Given the description of an element on the screen output the (x, y) to click on. 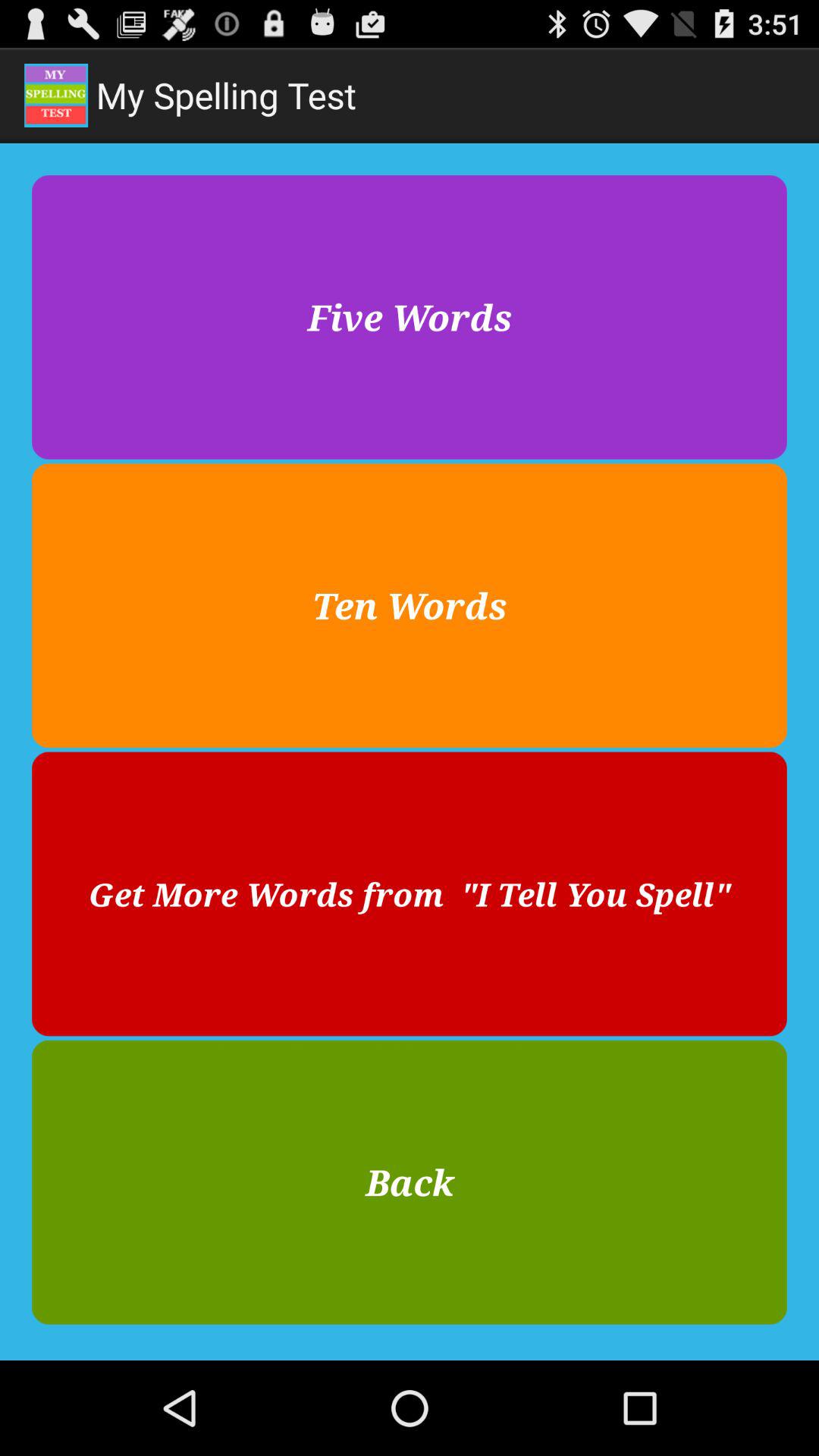
swipe to the back item (409, 1182)
